Given the description of an element on the screen output the (x, y) to click on. 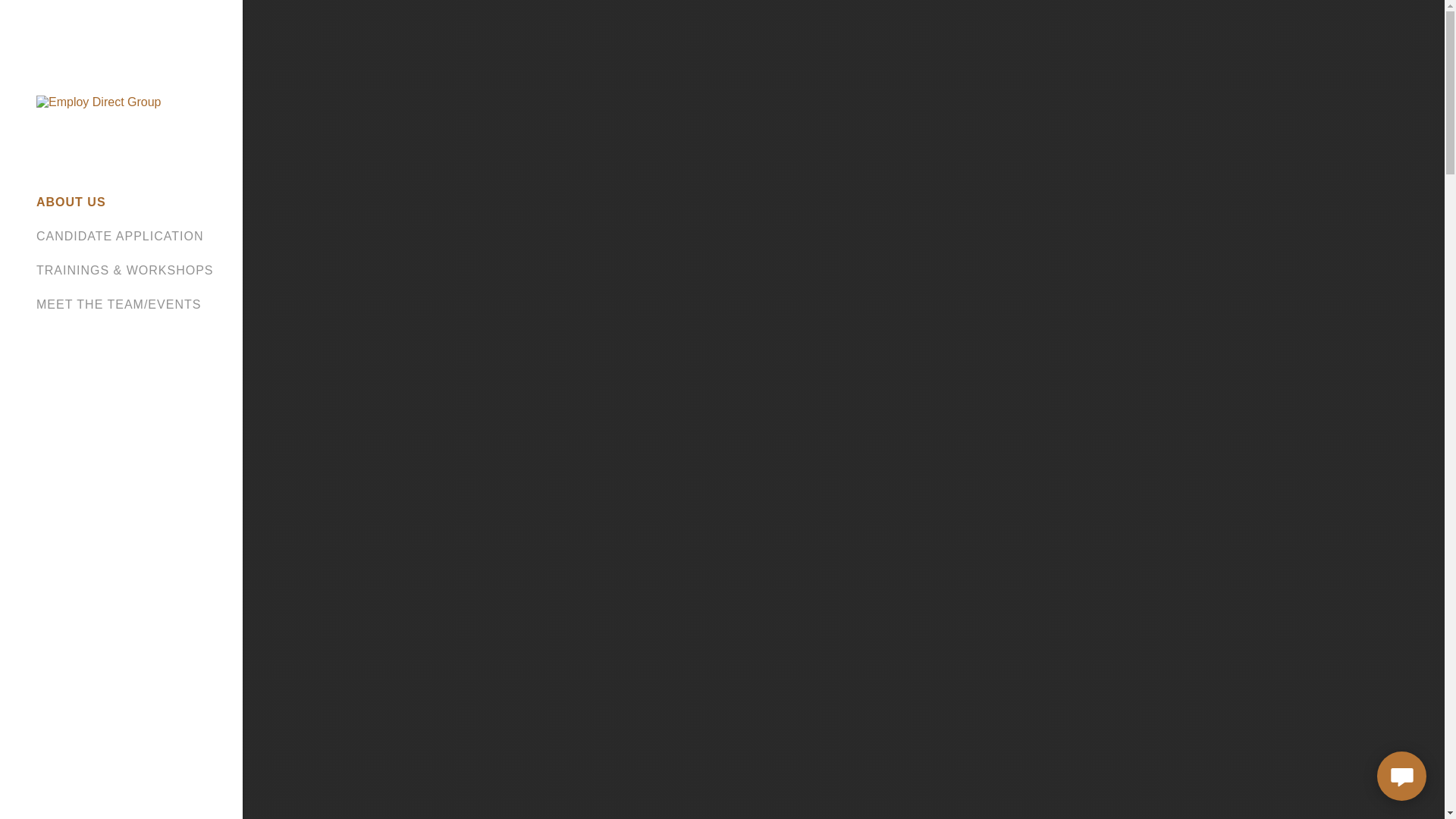
Employ Direct Group (98, 101)
ABOUT US (71, 201)
CANDIDATE APPLICATION (119, 236)
